Given the description of an element on the screen output the (x, y) to click on. 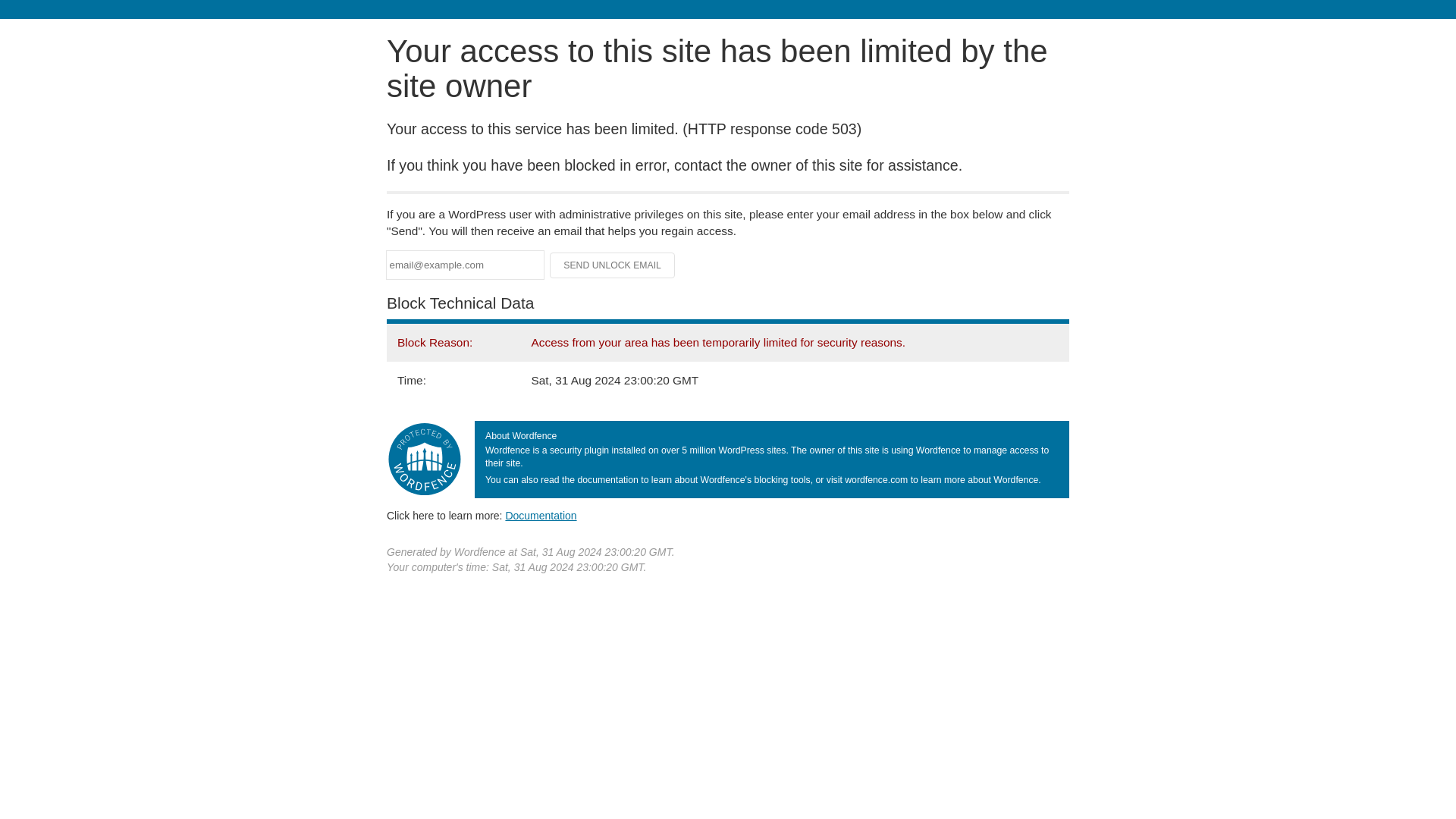
Documentation (540, 515)
Send Unlock Email (612, 265)
Send Unlock Email (612, 265)
